Given the description of an element on the screen output the (x, y) to click on. 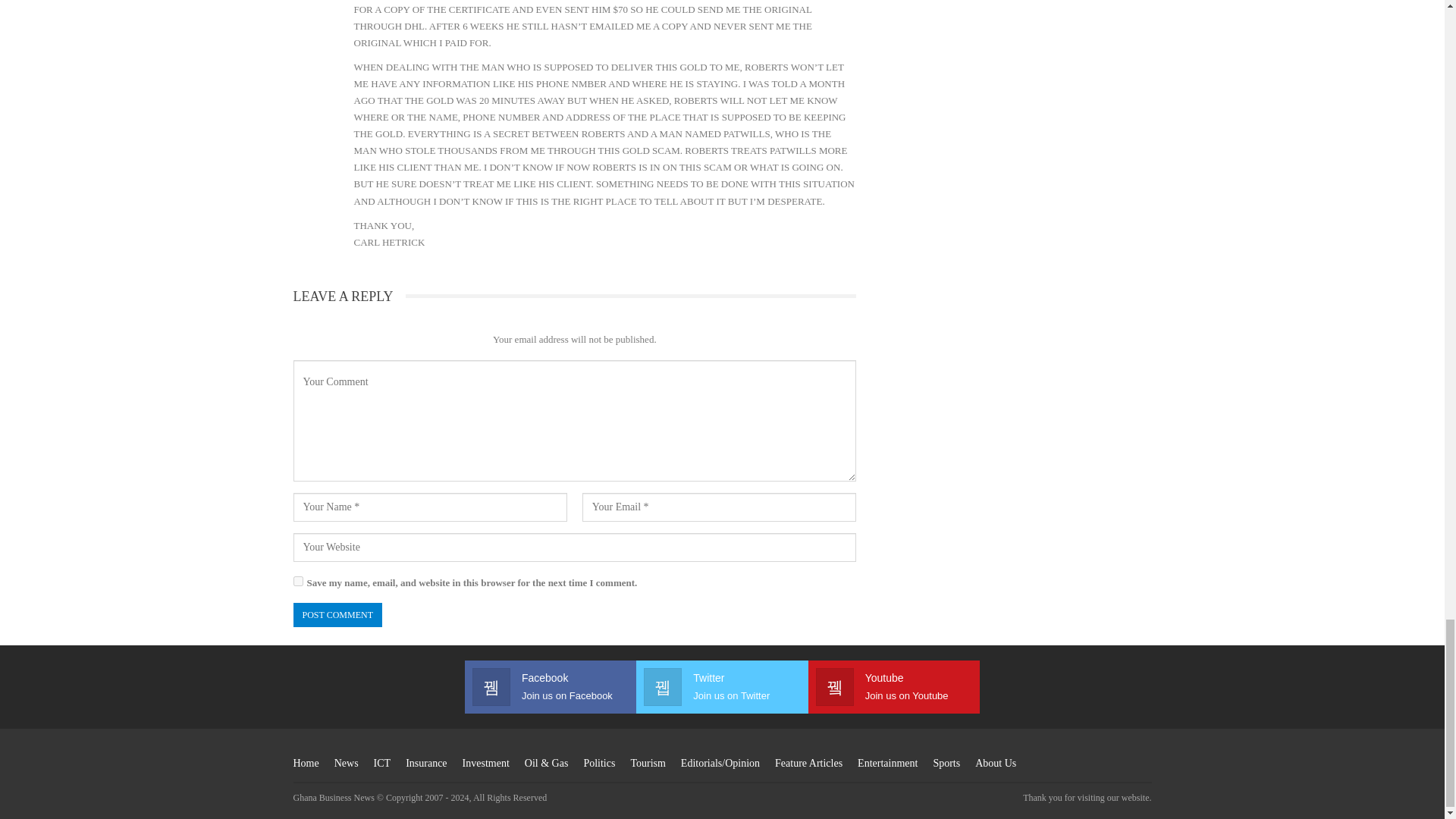
yes (297, 581)
Post Comment (336, 615)
Post Comment (336, 615)
